Given the description of an element on the screen output the (x, y) to click on. 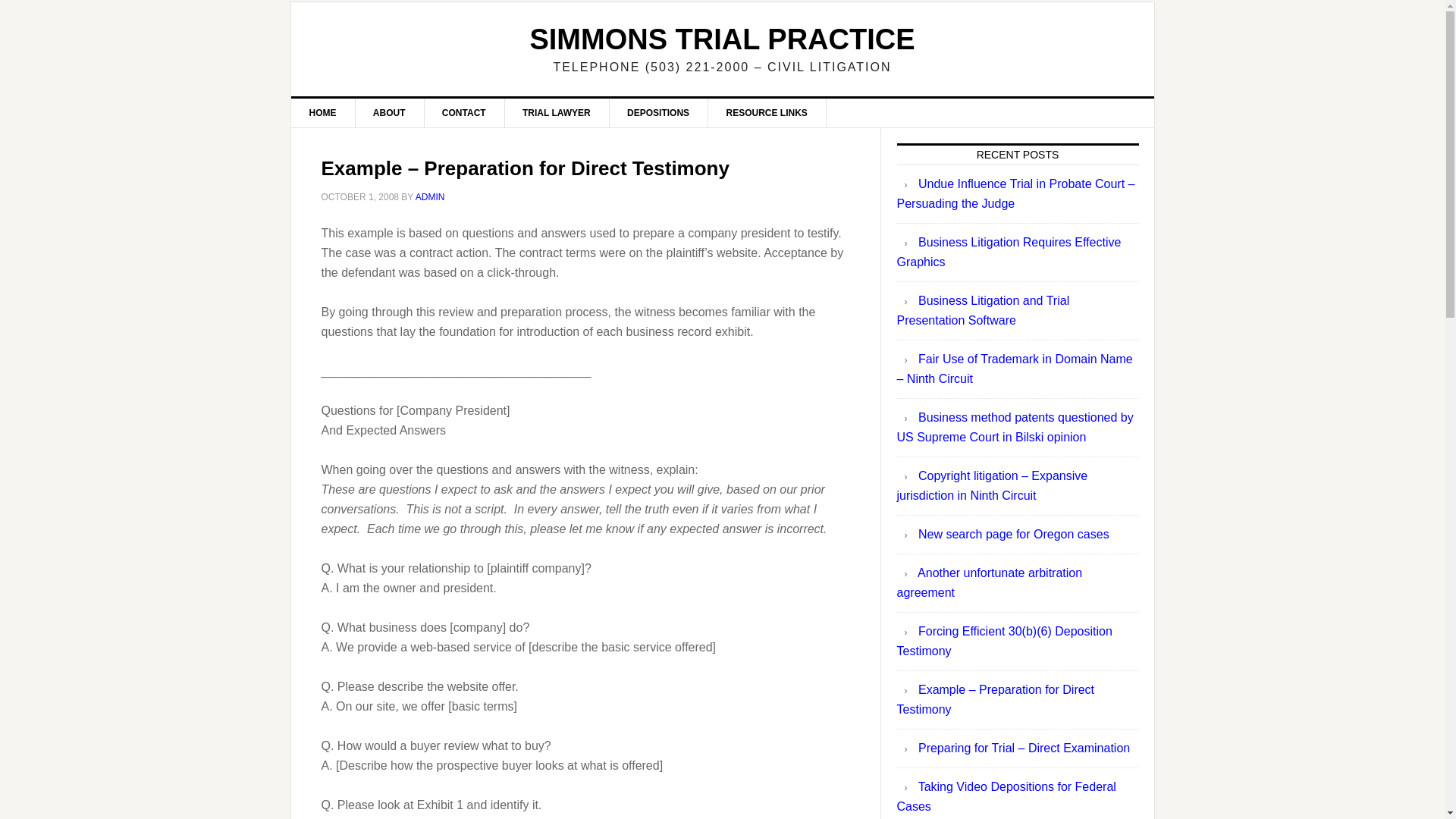
Taking Video Depositions for Federal Cases (1005, 796)
SIMMONS TRIAL PRACTICE (721, 39)
Another unfortunate arbitration agreement (988, 582)
ABOUT (390, 112)
CONTACT (464, 112)
HOME (323, 112)
Business Litigation Requires Effective Graphics (1008, 251)
TRIAL LAWYER (556, 112)
Business Litigation and Trial Presentation Software (982, 310)
